Given the description of an element on the screen output the (x, y) to click on. 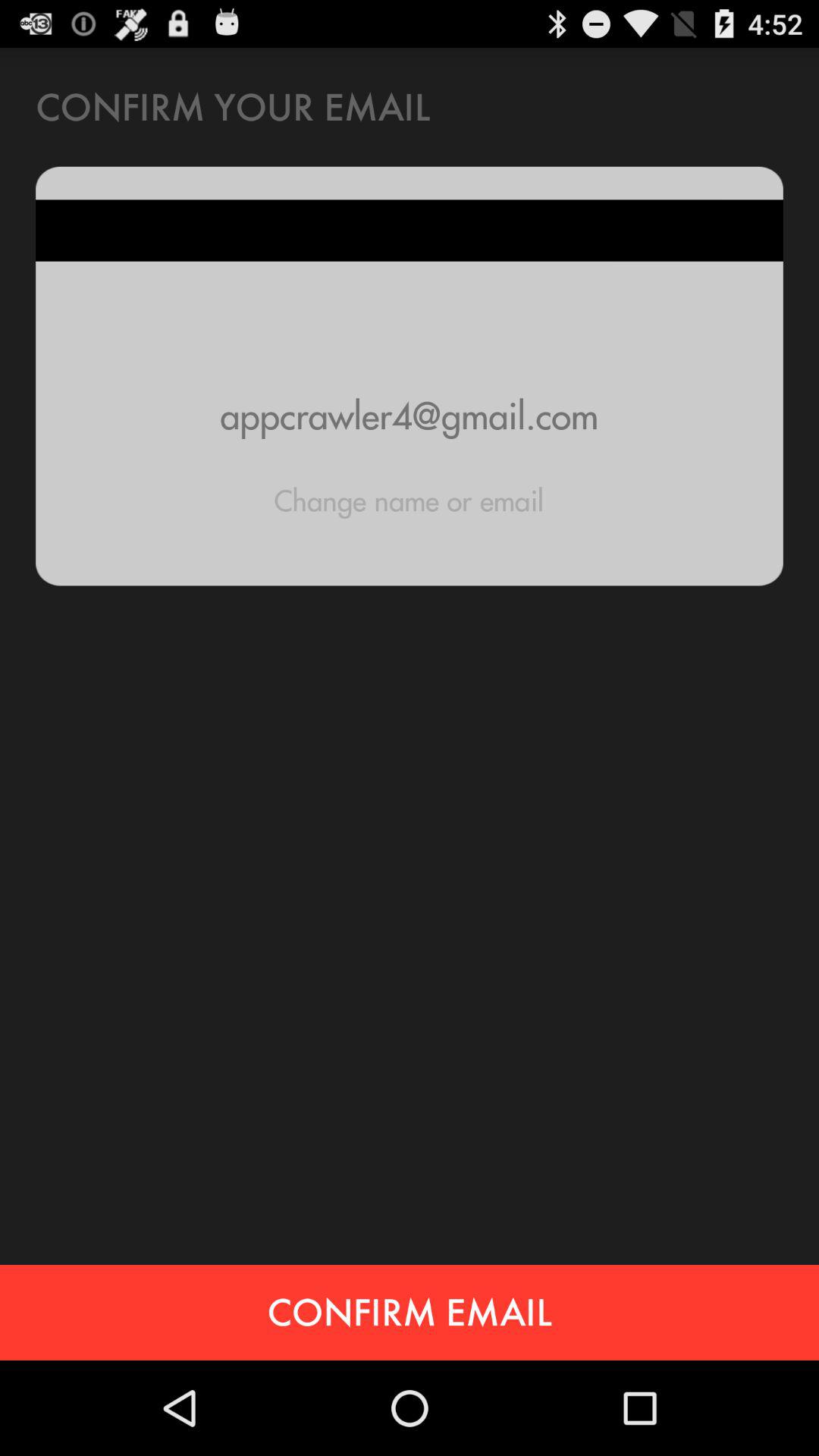
click item above the change name or icon (409, 415)
